Given the description of an element on the screen output the (x, y) to click on. 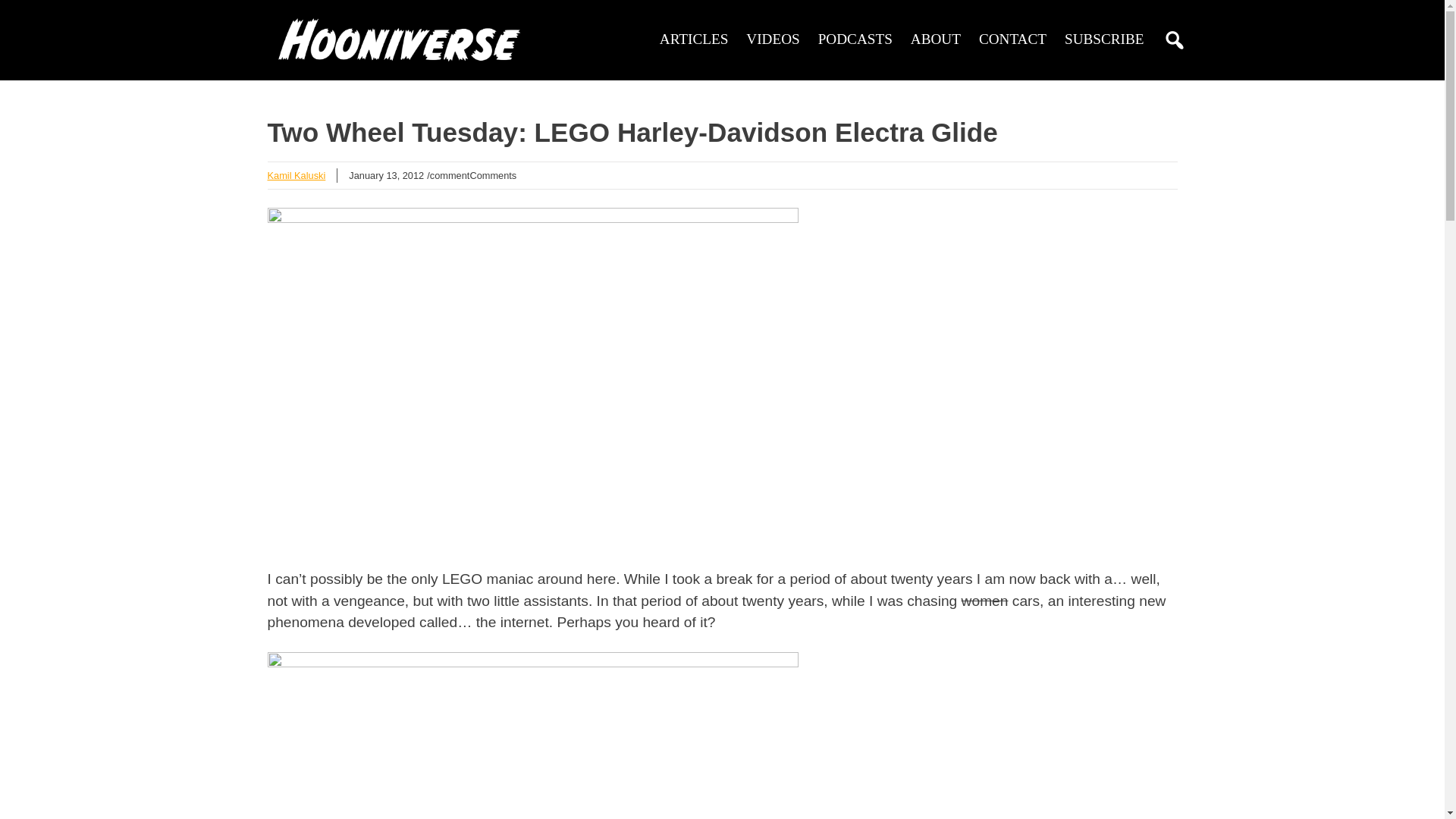
Kamil Kaluski (295, 174)
ABOUT (935, 39)
lego harley (531, 735)
ARTICLES (694, 39)
VIDEOS (772, 39)
SUBSCRIBE (1104, 39)
CONTACT (1012, 39)
PODCASTS (855, 39)
